Given the description of an element on the screen output the (x, y) to click on. 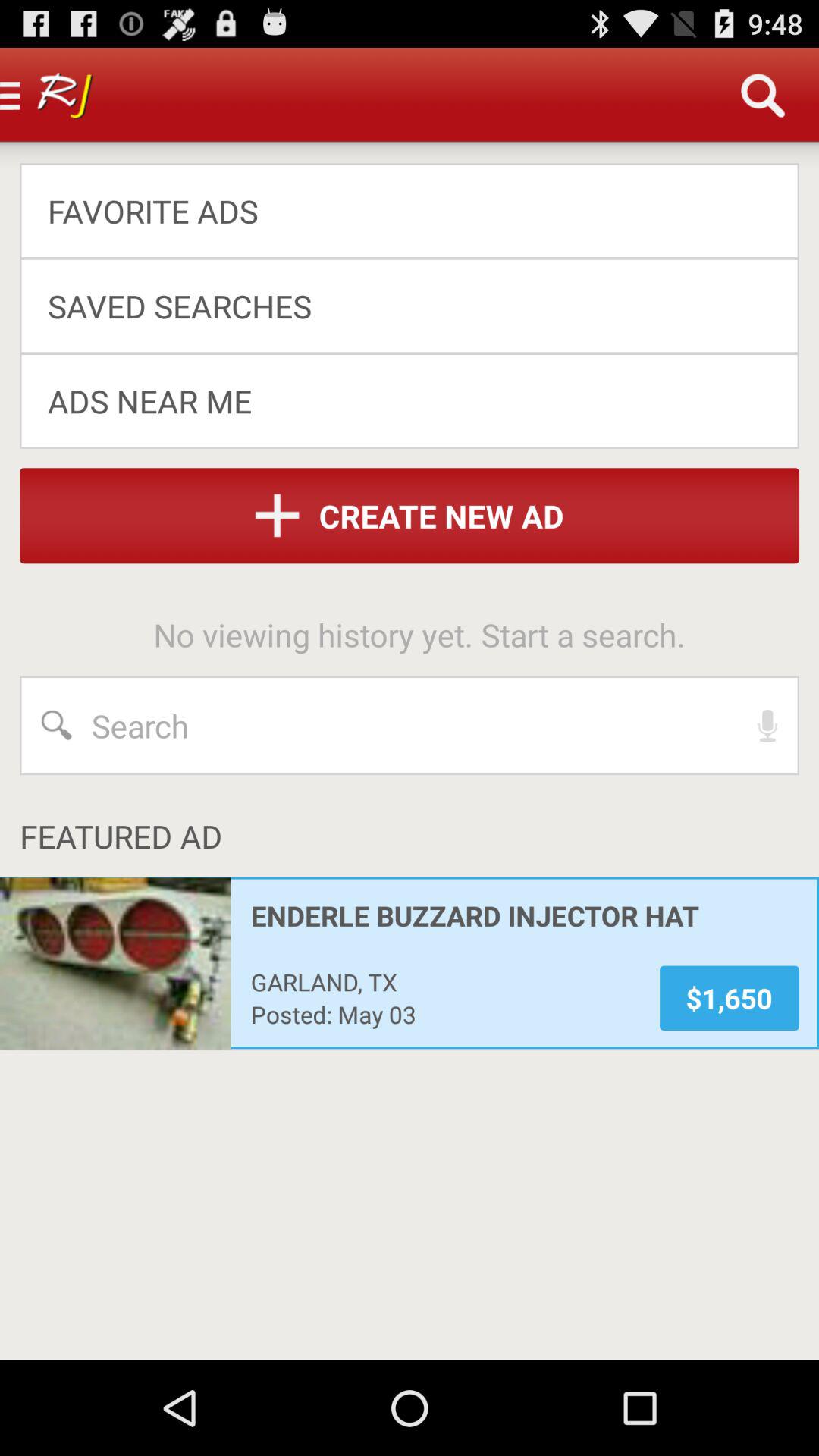
search advertisements (409, 725)
